Given the description of an element on the screen output the (x, y) to click on. 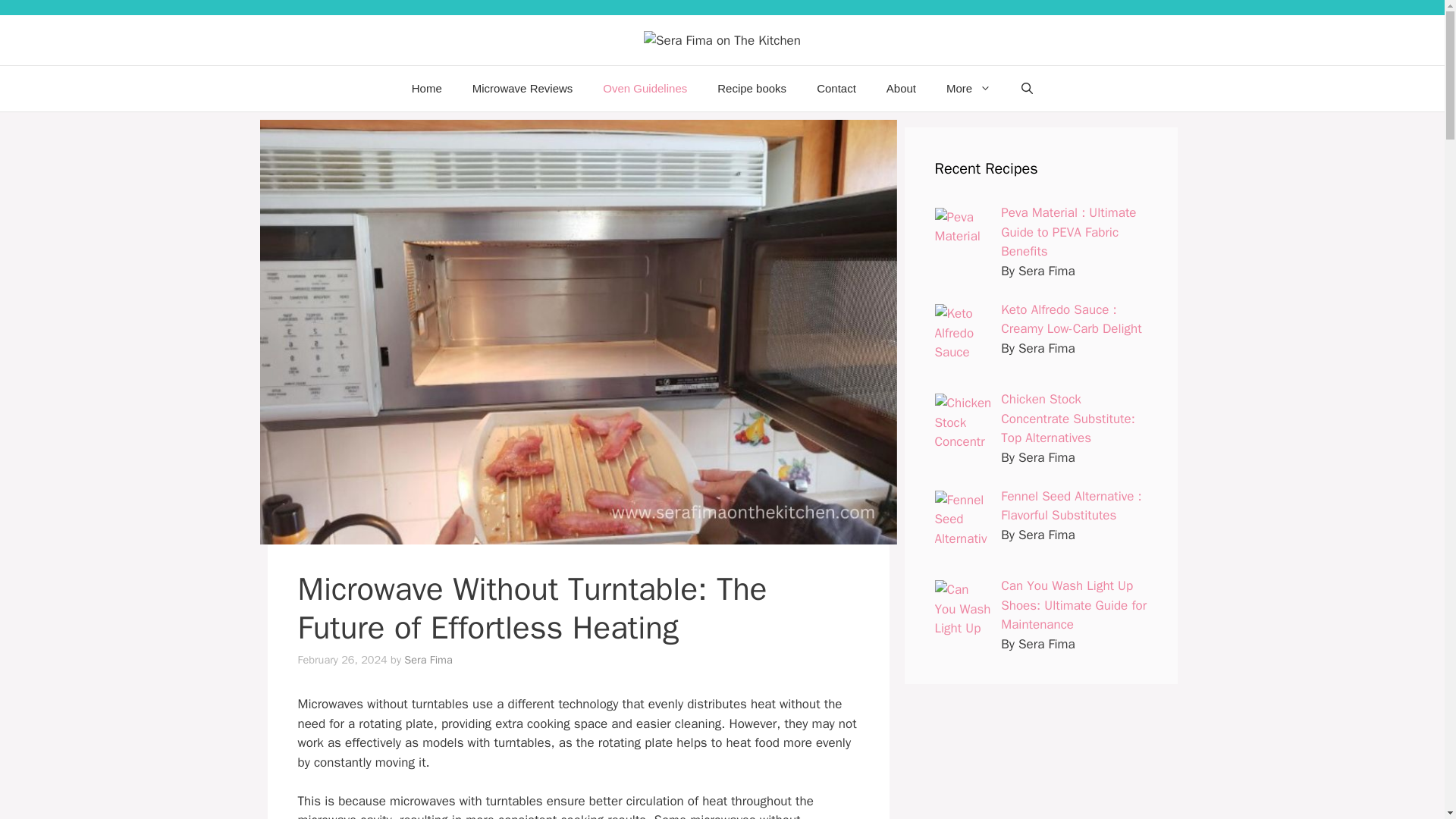
Recipe books (751, 88)
Sera Fima (427, 659)
View all posts by Sera Fima (427, 659)
Microwave Reviews (522, 88)
Home (426, 88)
More (968, 88)
Contact (836, 88)
Oven Guidelines (644, 88)
About (900, 88)
